Given the description of an element on the screen output the (x, y) to click on. 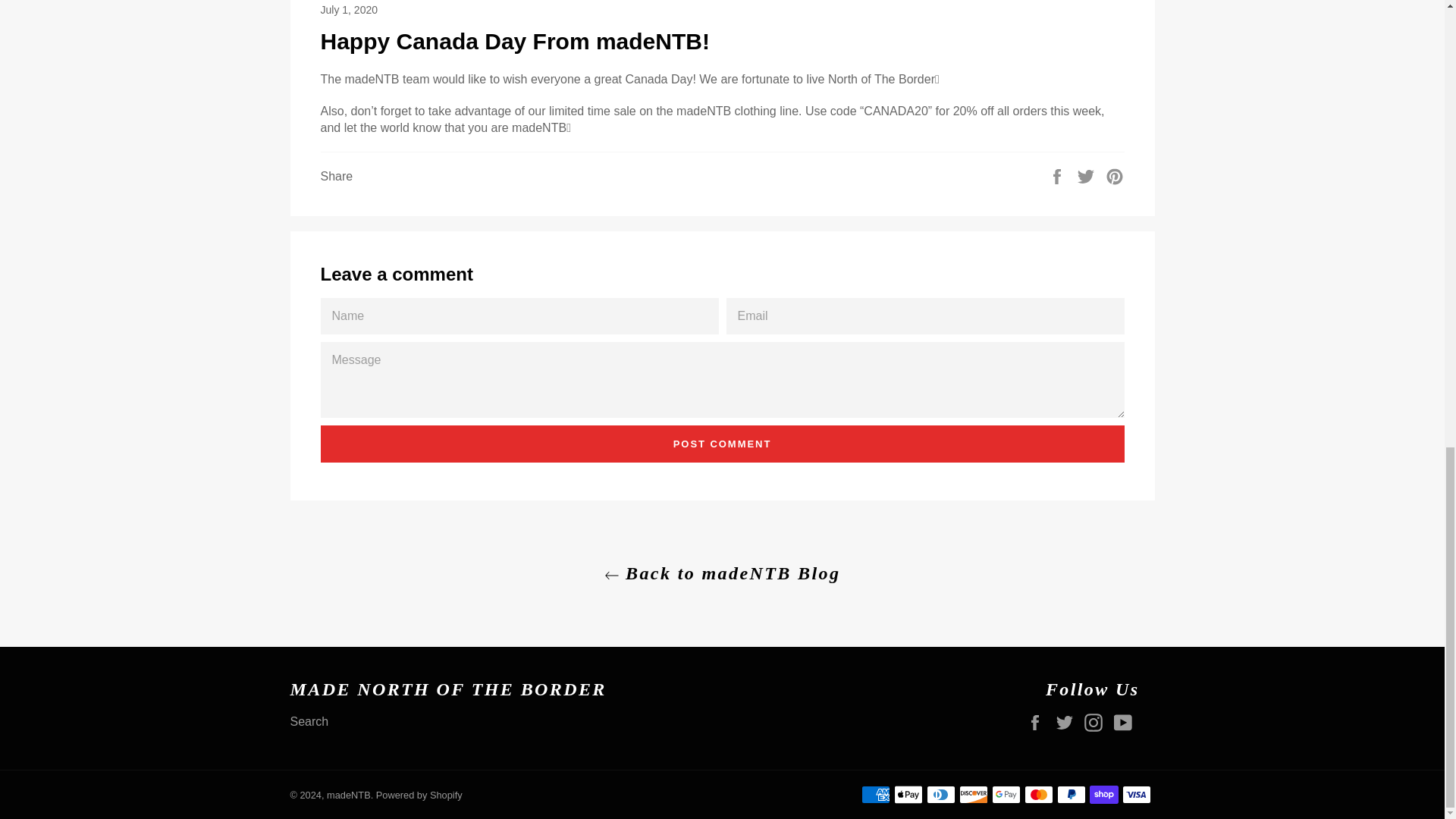
Pin on Pinterest (1114, 174)
Instagram (1096, 722)
Facebook (1038, 722)
Post comment (722, 444)
Search (309, 721)
madeNTB on Twitter (1068, 722)
Back to madeNTB Blog (721, 573)
madeNTB (348, 794)
Powered by Shopify (419, 794)
madeNTB on Facebook (1038, 722)
